Given the description of an element on the screen output the (x, y) to click on. 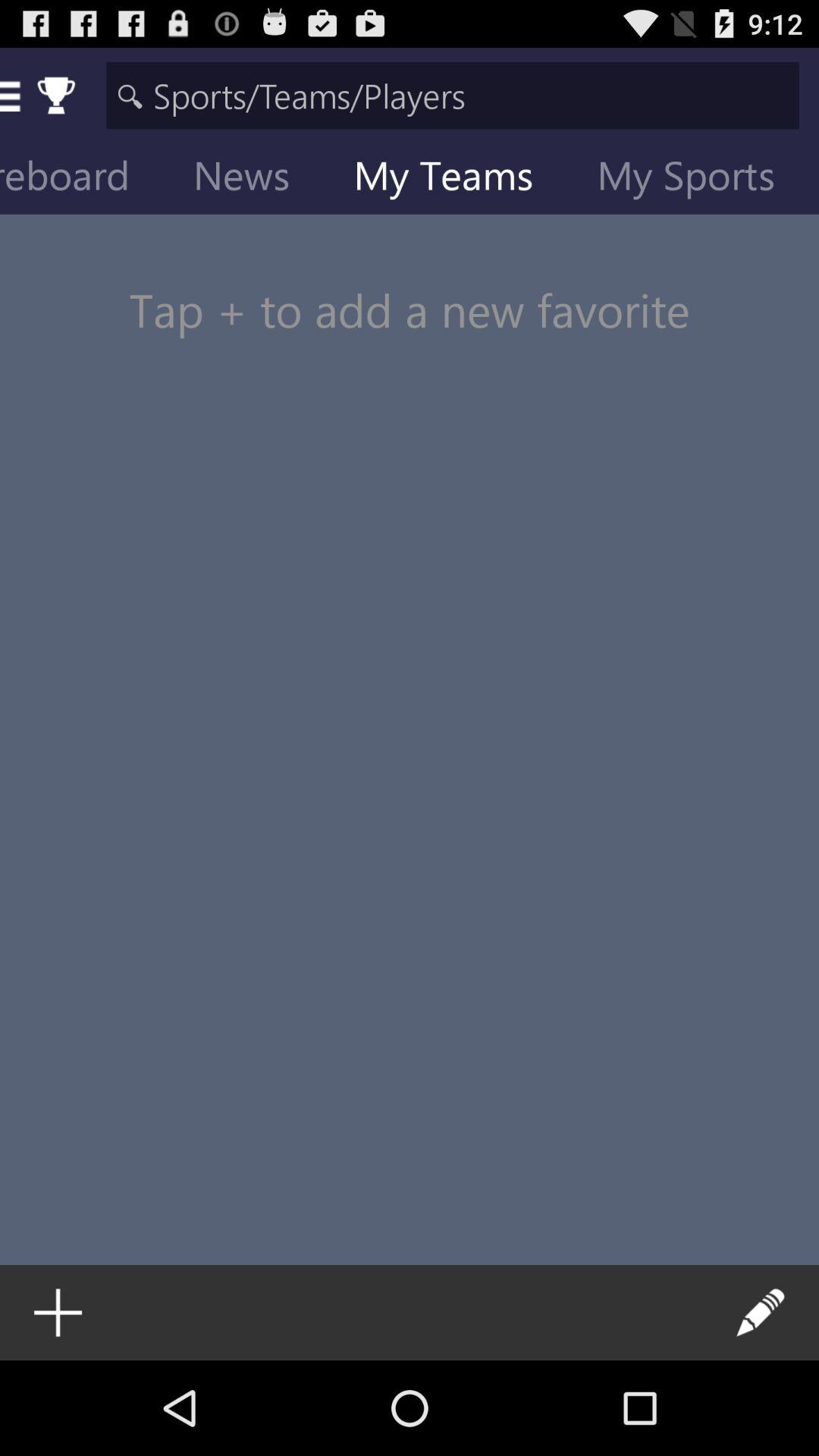
launch my teams item (455, 178)
